Given the description of an element on the screen output the (x, y) to click on. 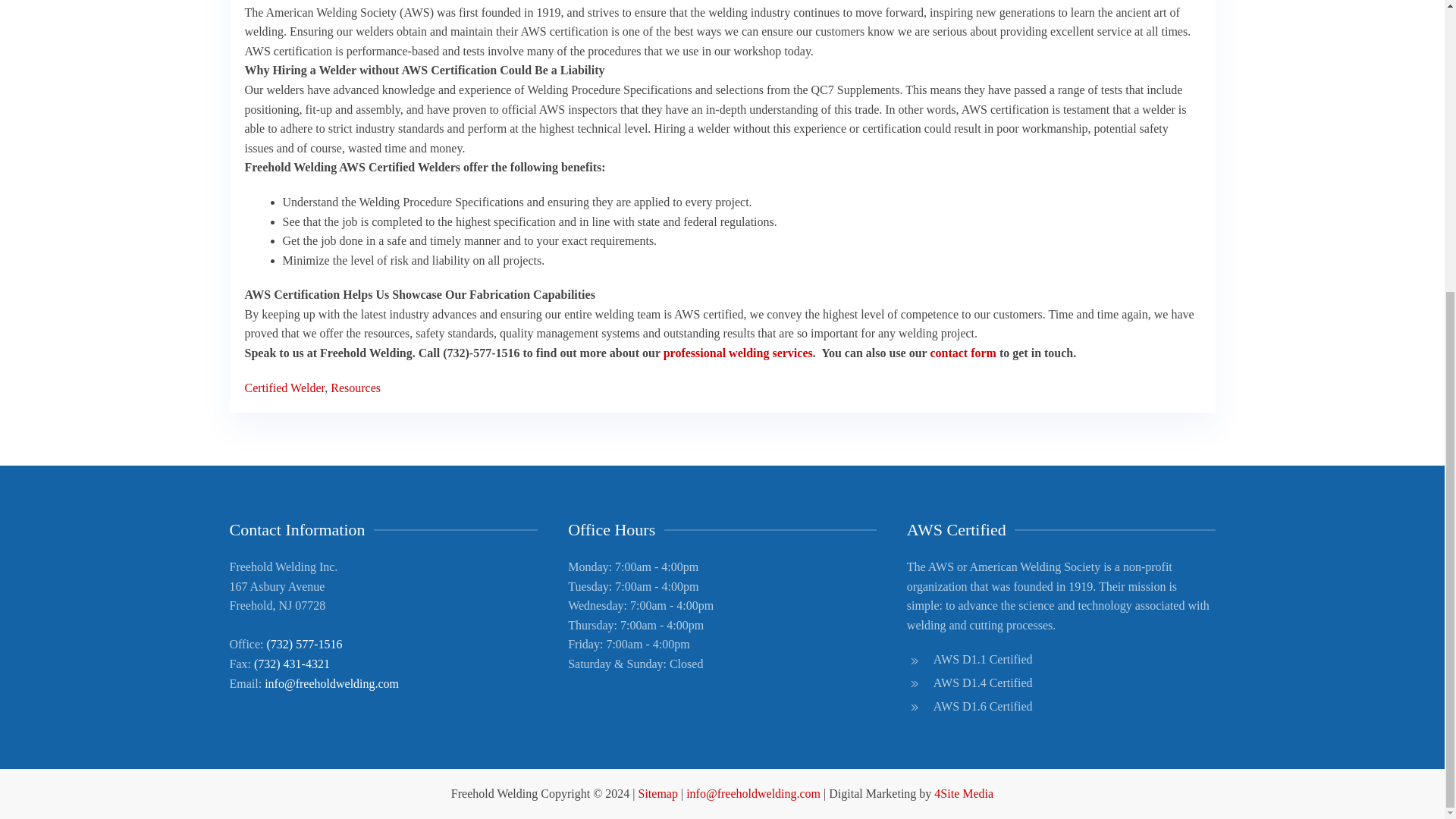
professional welding services (737, 352)
